Given the description of an element on the screen output the (x, y) to click on. 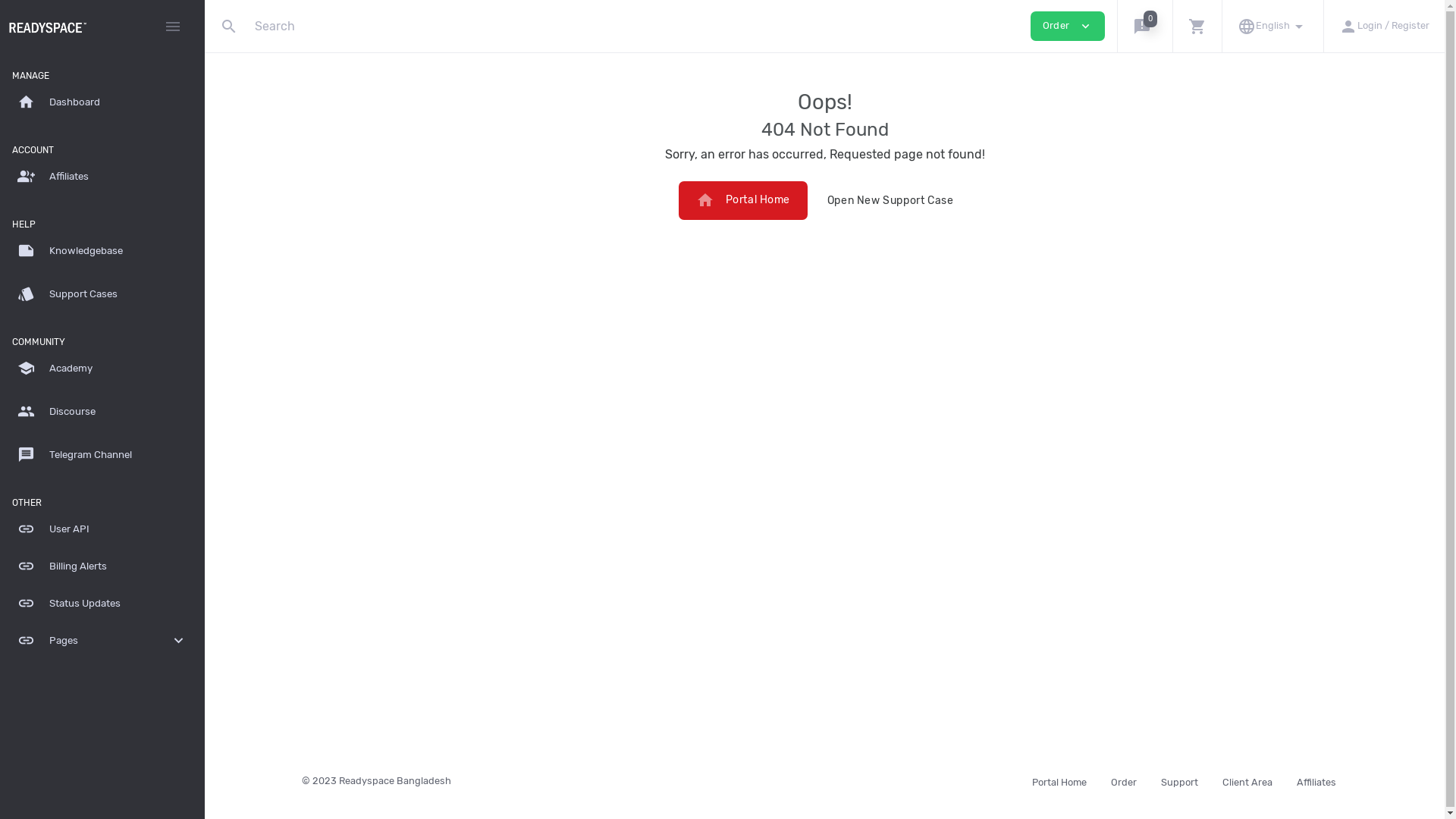
Order expand_more Element type: text (1067, 25)
Portal Home Element type: text (1058, 781)
homePortal Home Element type: text (742, 200)
Open New Support Case Element type: text (889, 199)
link Billing Alerts Element type: text (102, 566)
link Status Updates Element type: text (102, 603)
link Pages
expand_more Element type: text (102, 640)
Client Area Element type: text (1247, 781)
person
Login / Register Element type: text (1383, 26)
group Discourse Element type: text (102, 411)
menu Element type: text (172, 26)
shopping_cart Element type: text (1196, 26)
Affiliates Element type: text (1316, 781)
Order Element type: text (1123, 781)
style Support Cases Element type: text (102, 294)
language
English
arrow_drop_down Element type: text (1272, 26)
message Telegram Channel Element type: text (102, 455)
link User API Element type: text (102, 529)
home Dashboard Element type: text (102, 102)
announcement
0 Element type: text (1144, 26)
note Knowledgebase Element type: text (102, 251)
school Academy Element type: text (102, 368)
Support Element type: text (1178, 781)
group_add Affiliates Element type: text (102, 176)
